Given the description of an element on the screen output the (x, y) to click on. 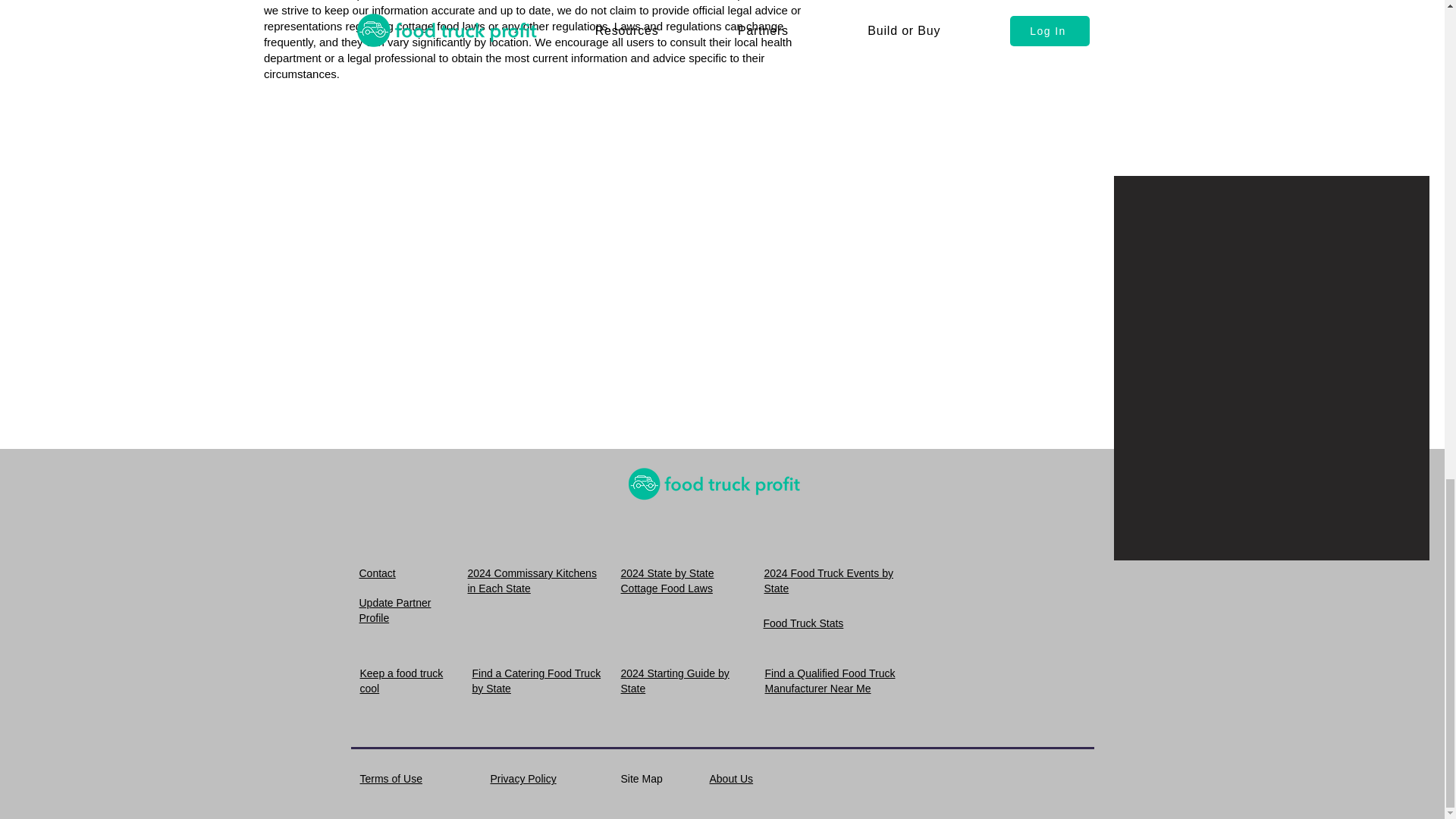
Privacy Policy (522, 778)
2024 Food Truck Events by State (828, 580)
Contact (377, 573)
2024 Starting Guide by State (674, 680)
Food Truck Stats (802, 623)
Terms of Use (390, 778)
Find a Qualified Food Truck Manufacturer Near Me (829, 680)
About Us (732, 778)
Find a Catering Food Truck by State (535, 680)
2024 Commissary Kitchens in Each State (531, 580)
Update Partner Profile (394, 610)
Keep a food truck cool (400, 680)
2024 State by State Cottage Food Laws (666, 580)
